Given the description of an element on the screen output the (x, y) to click on. 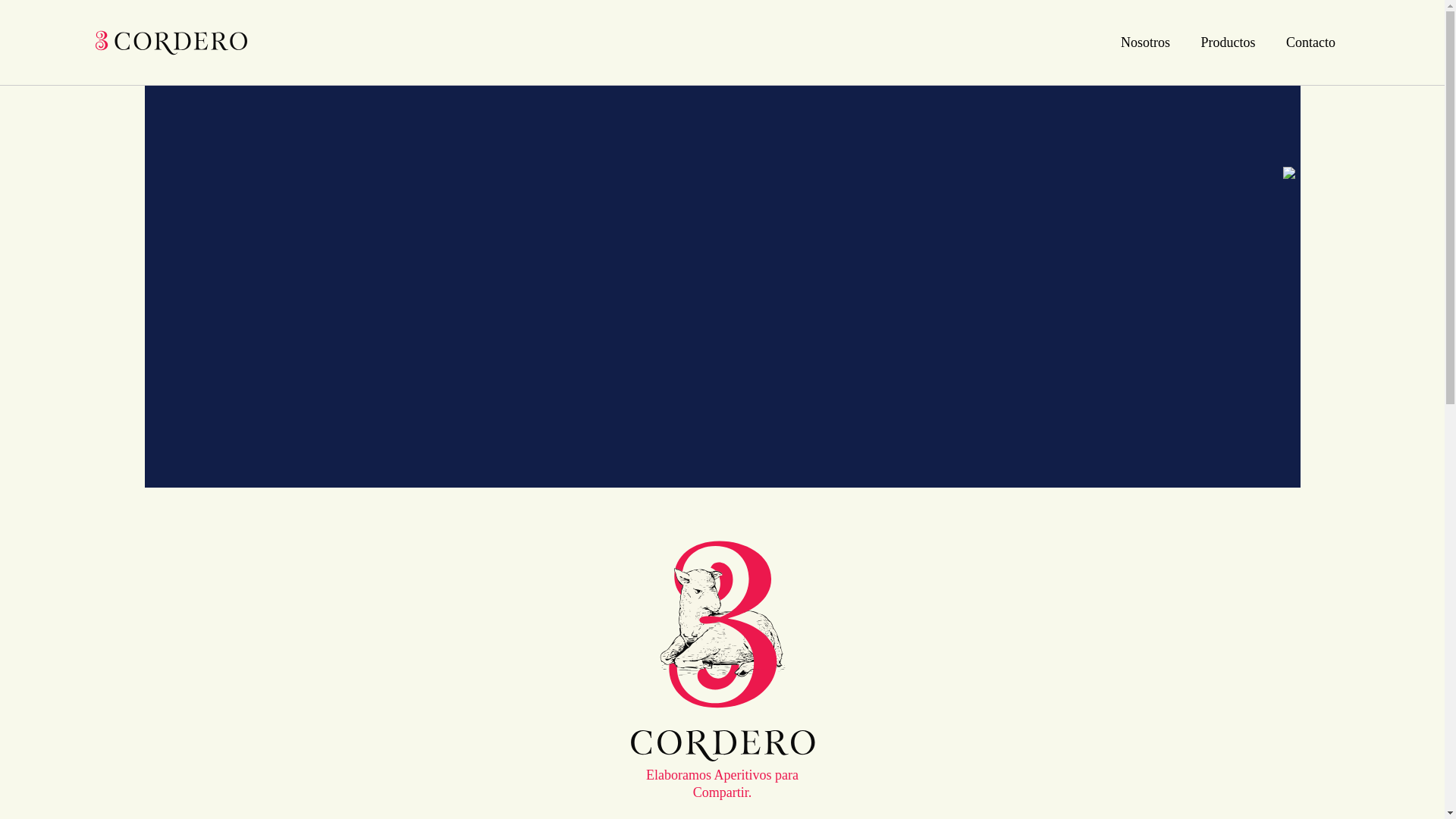
Contacto Element type: text (1310, 42)
Productos Element type: text (1228, 42)
Nosotros Element type: text (1145, 42)
